Given the description of an element on the screen output the (x, y) to click on. 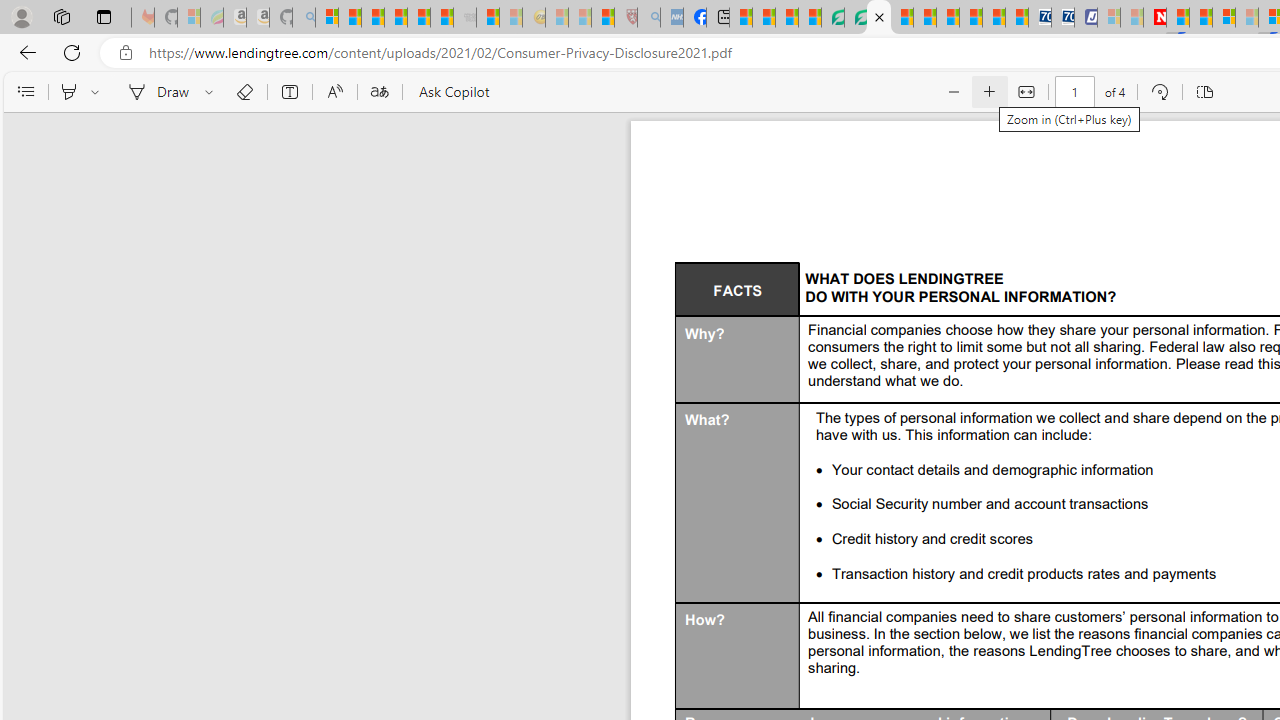
Fit to width (Ctrl+\) (1025, 92)
Zoom in (Ctrl+Plus key) (989, 92)
The Weather Channel - MSN (372, 17)
